Given the description of an element on the screen output the (x, y) to click on. 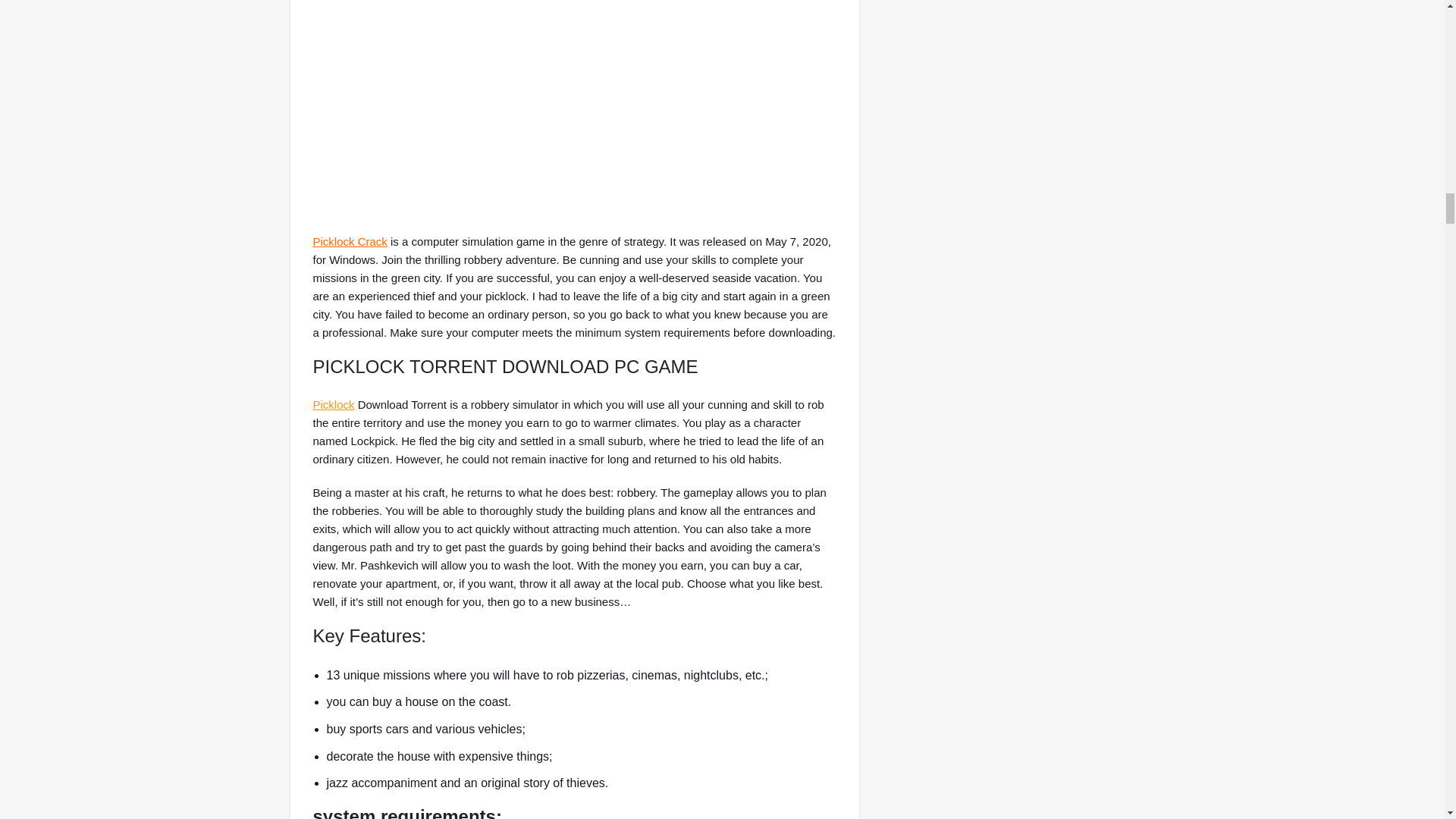
Picklock Crack (350, 241)
Picklock (333, 404)
